Given the description of an element on the screen output the (x, y) to click on. 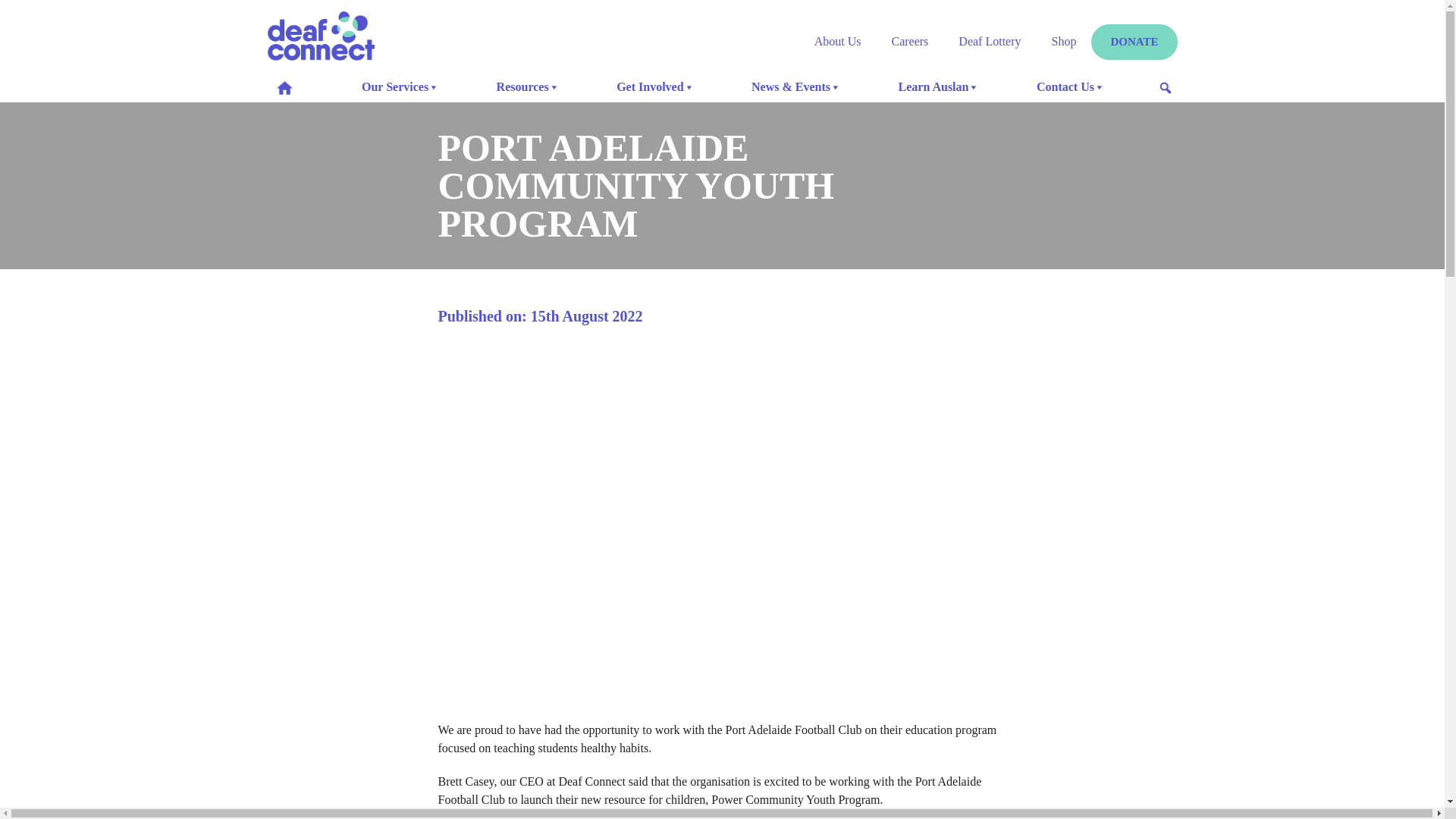
Resources Element type: text (528, 87)
Careers Element type: text (909, 41)
Shop Element type: text (1064, 41)
Learn Auslan Element type: text (939, 87)
Get Involved Element type: text (655, 87)
Search Element type: text (11, 15)
Contact Us Element type: text (1071, 87)
Our Services Element type: text (400, 87)
Deaf Lottery Element type: text (989, 41)
YouTube video player Element type: hover (722, 514)
DONATE Element type: text (1133, 41)
News & Events Element type: text (796, 87)
About Us Element type: text (837, 41)
